Given the description of an element on the screen output the (x, y) to click on. 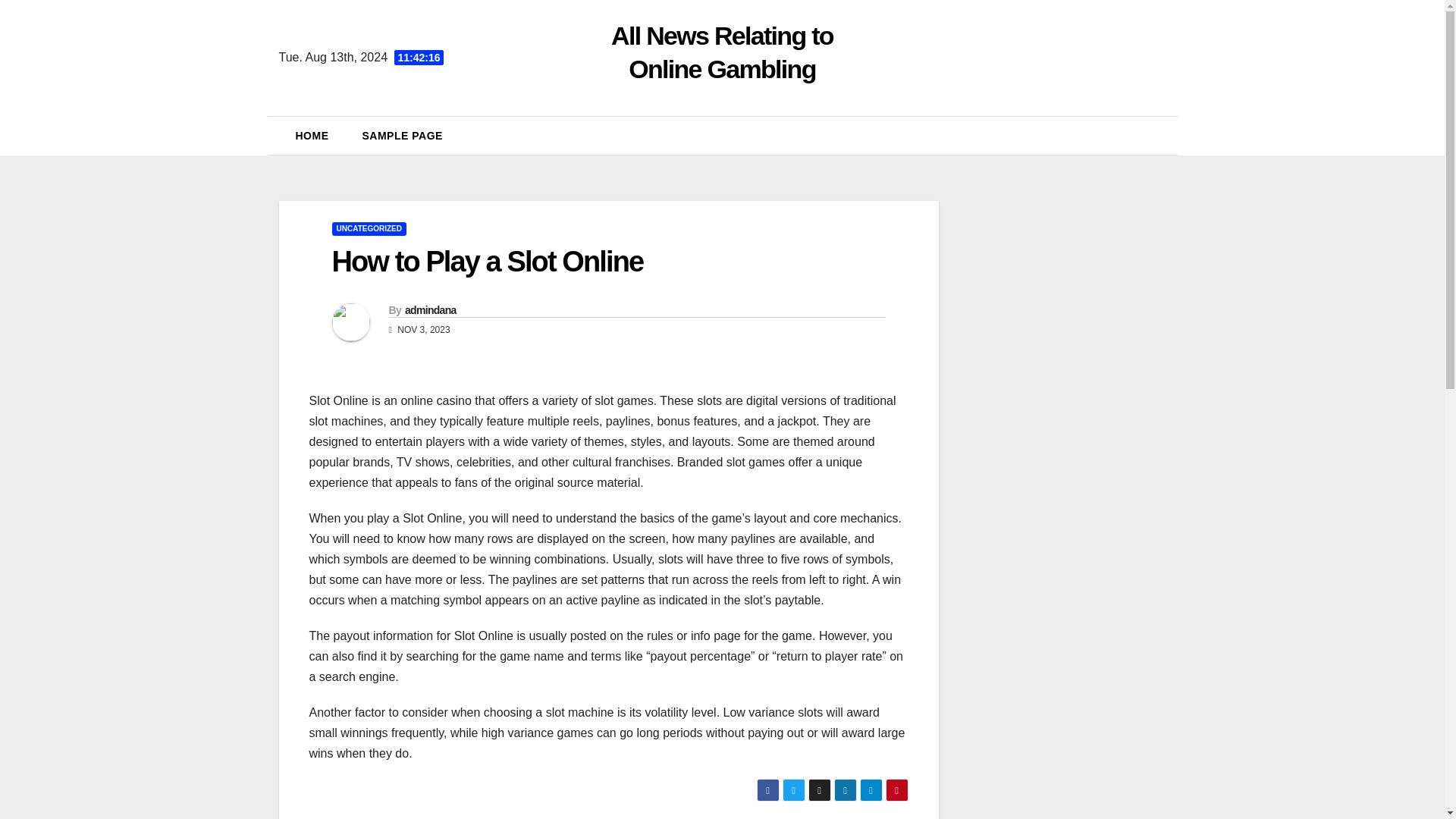
All News Relating to Online Gambling (721, 52)
How to Play a Slot Online (487, 261)
Home (312, 135)
Permalink to: How to Play a Slot Online (487, 261)
admindana (430, 309)
HOME (312, 135)
UNCATEGORIZED (368, 228)
SAMPLE PAGE (403, 135)
